Given the description of an element on the screen output the (x, y) to click on. 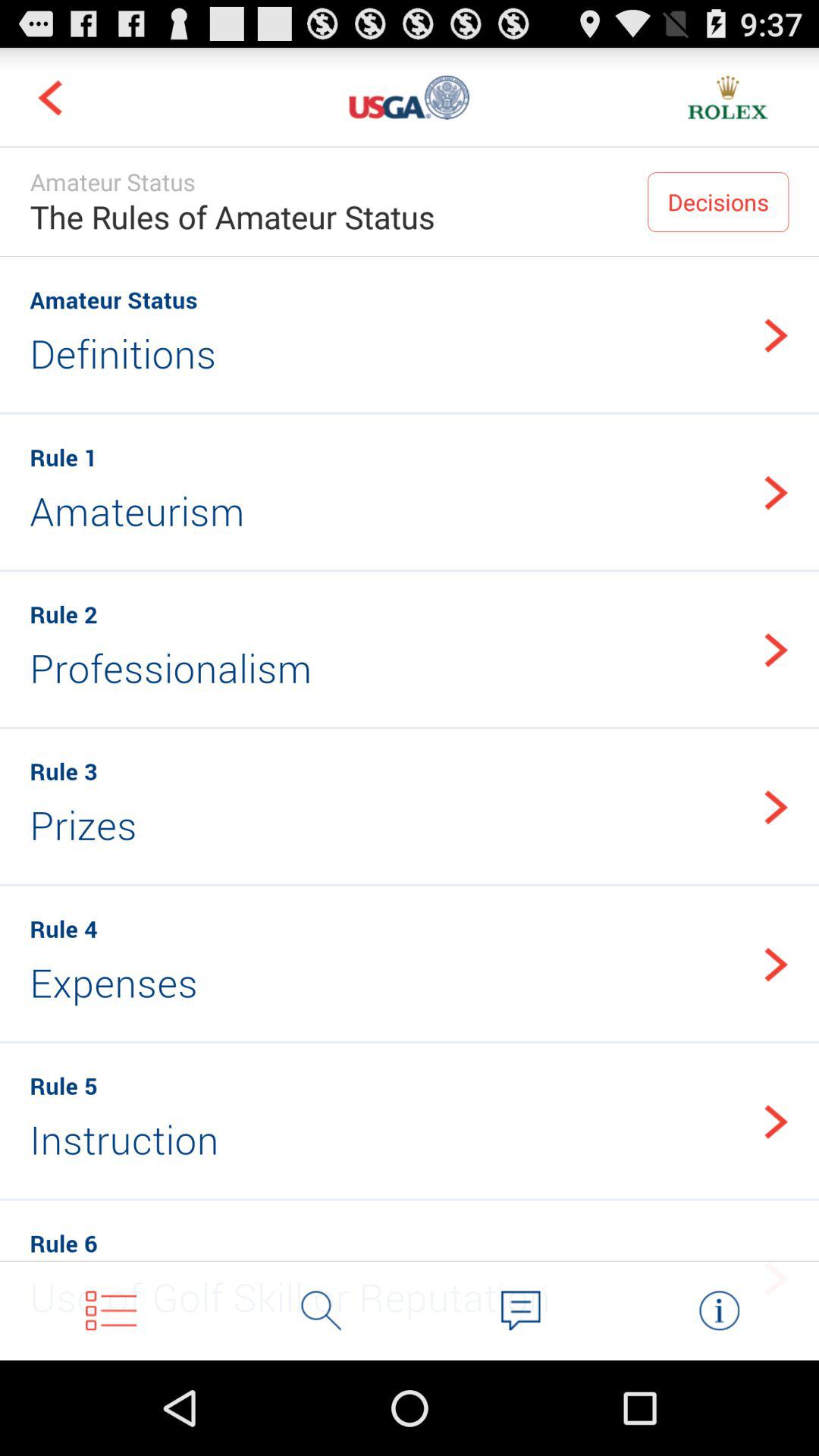
info (719, 1310)
